Given the description of an element on the screen output the (x, y) to click on. 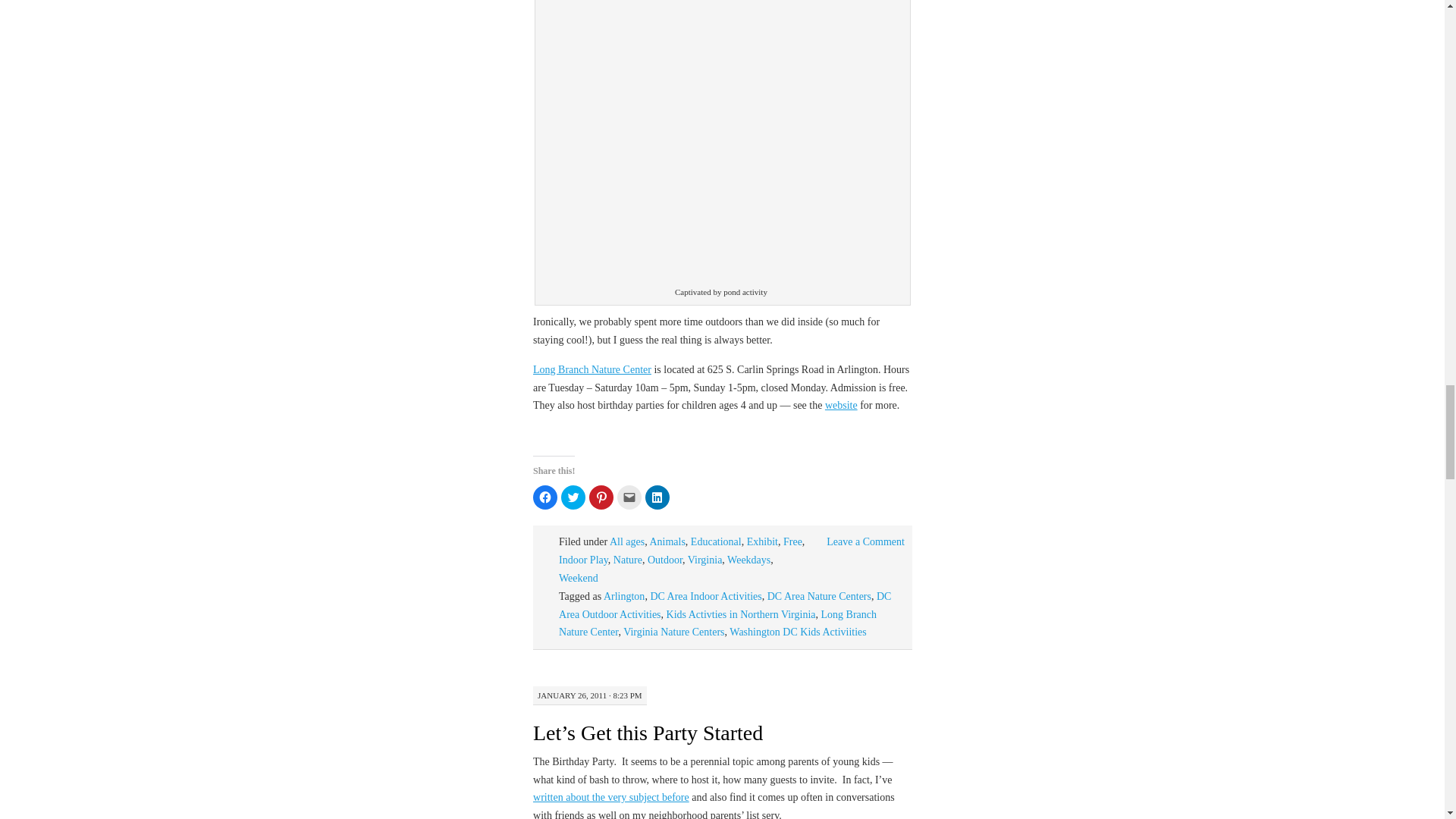
Click to share on Pinterest (600, 497)
Click to email this to a friend (629, 497)
Click to share on Twitter (572, 497)
Click to share on Facebook (544, 497)
Click to share on LinkedIn (657, 497)
